Given the description of an element on the screen output the (x, y) to click on. 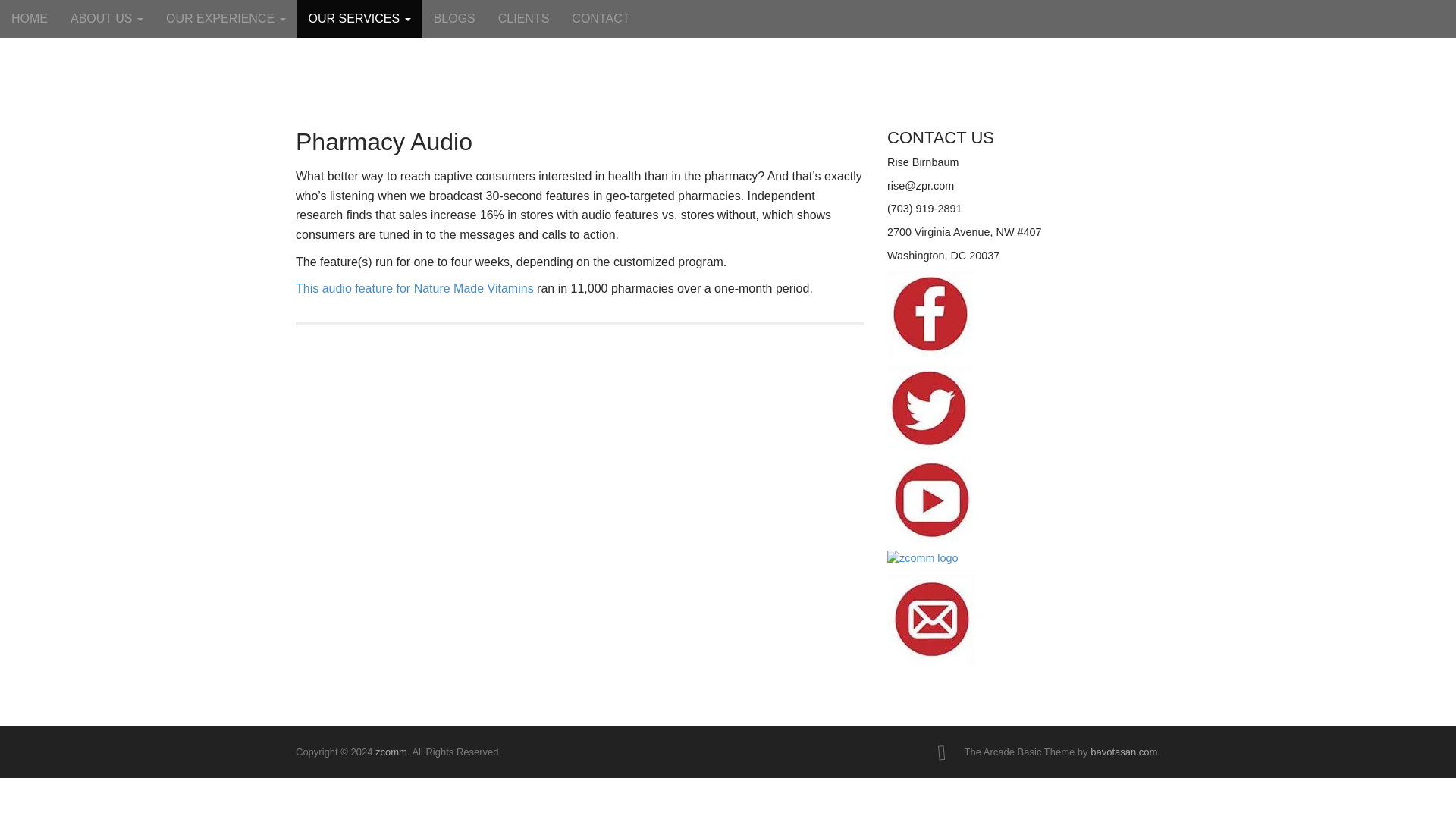
CONTACT (600, 18)
OUR EXPERIENCE (225, 18)
OUR SERVICES (359, 18)
HOME (29, 18)
CLIENTS (523, 18)
ABOUT US (106, 18)
BLOGS (454, 18)
This audio feature for Nature Made Vitamins (414, 287)
